Given the description of an element on the screen output the (x, y) to click on. 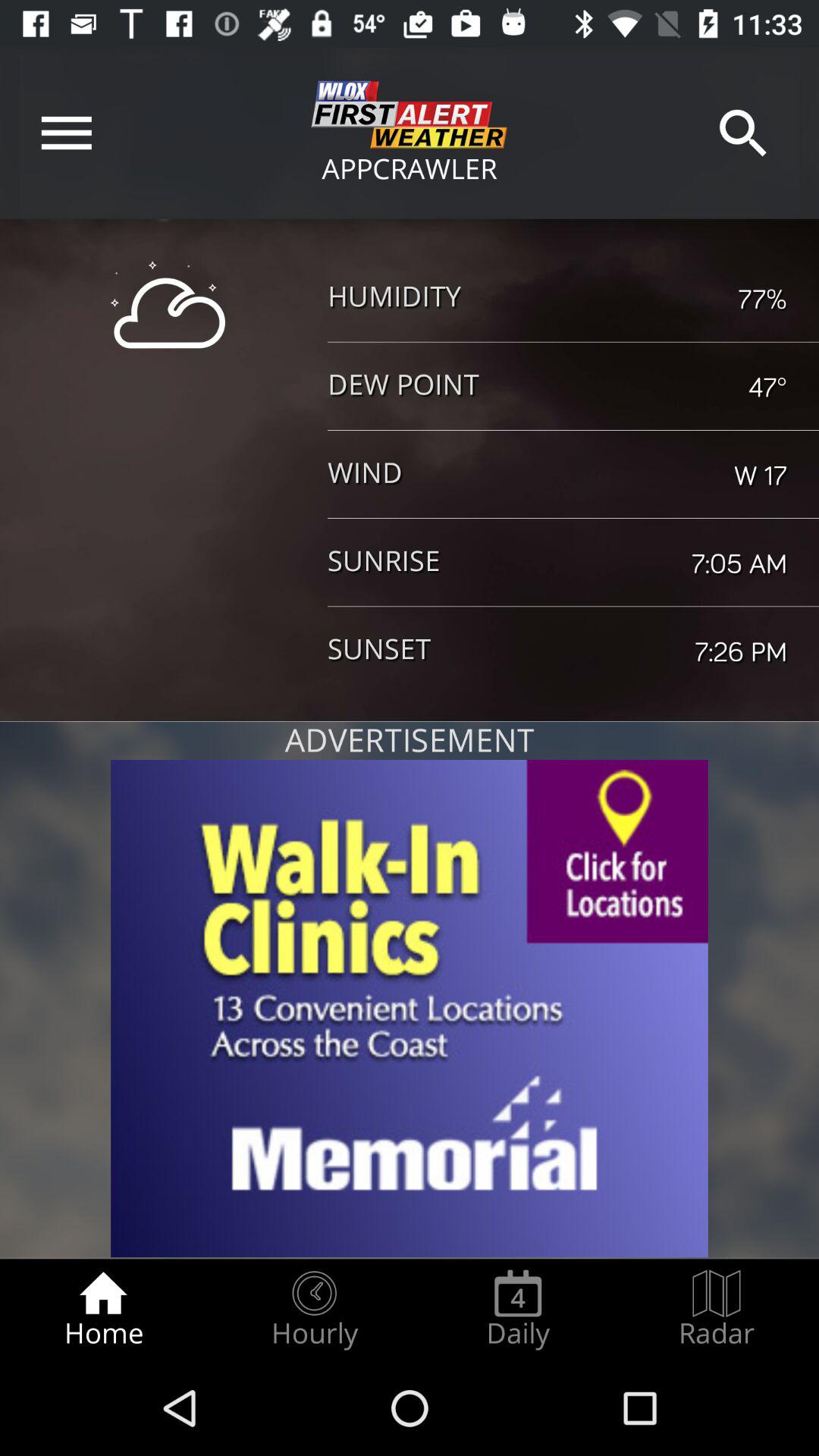
choose the radar at the bottom right corner (716, 1309)
